Given the description of an element on the screen output the (x, y) to click on. 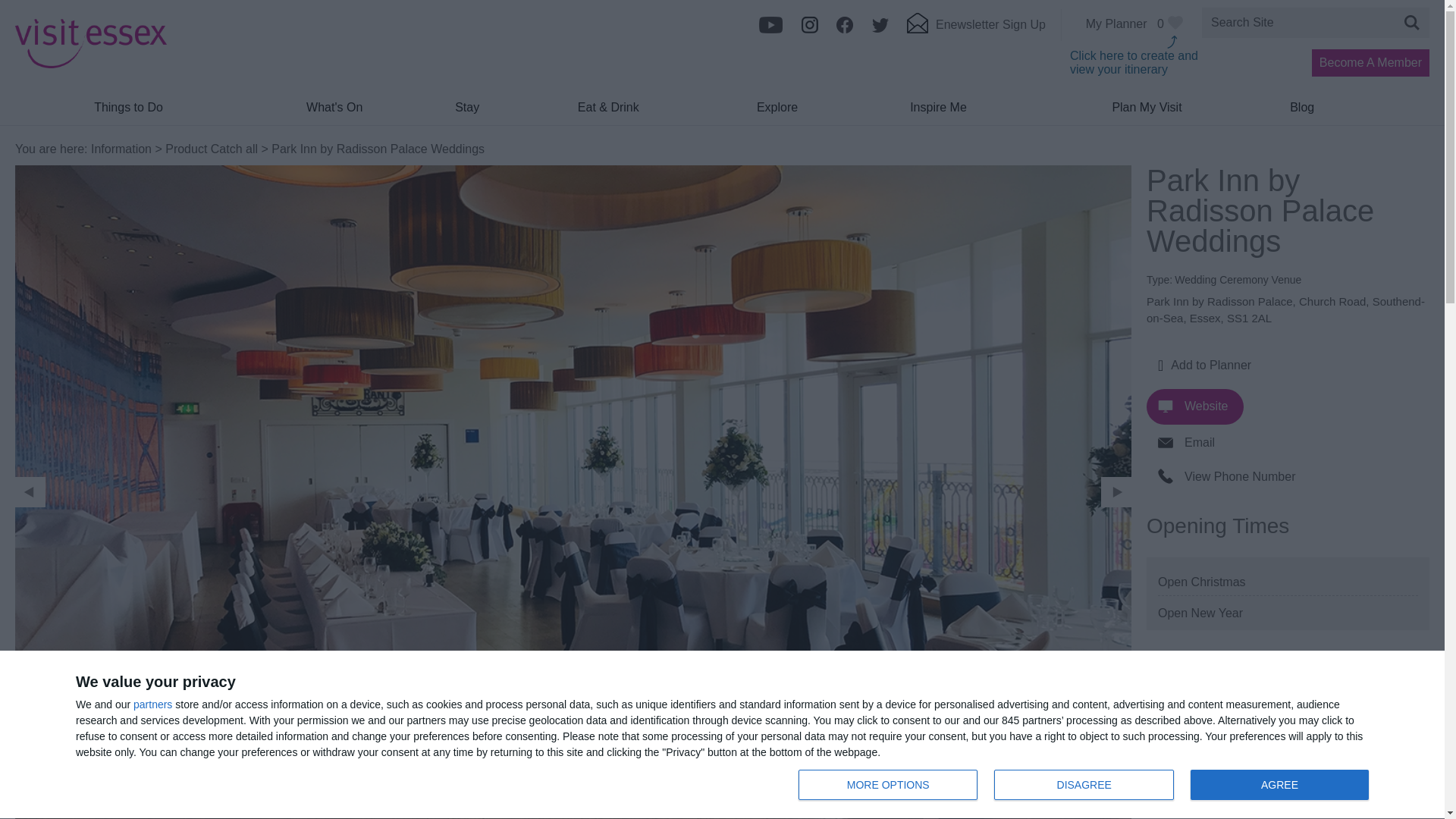
Return to Homepage (90, 63)
Things to Do (127, 112)
Become A Member (1370, 62)
partners (152, 704)
Visit Essex Facebook (844, 30)
AGREE (1279, 784)
MORE OPTIONS (886, 784)
Enewsletter Sign Up (976, 29)
Visit Essex Instagram (810, 30)
Visit Essex youtube (770, 30)
Visit Essex Twitter (880, 30)
DISAGREE (1086, 785)
Visit Essex Newsletter Sign Up (1083, 784)
Things to Do (976, 29)
